Given the description of an element on the screen output the (x, y) to click on. 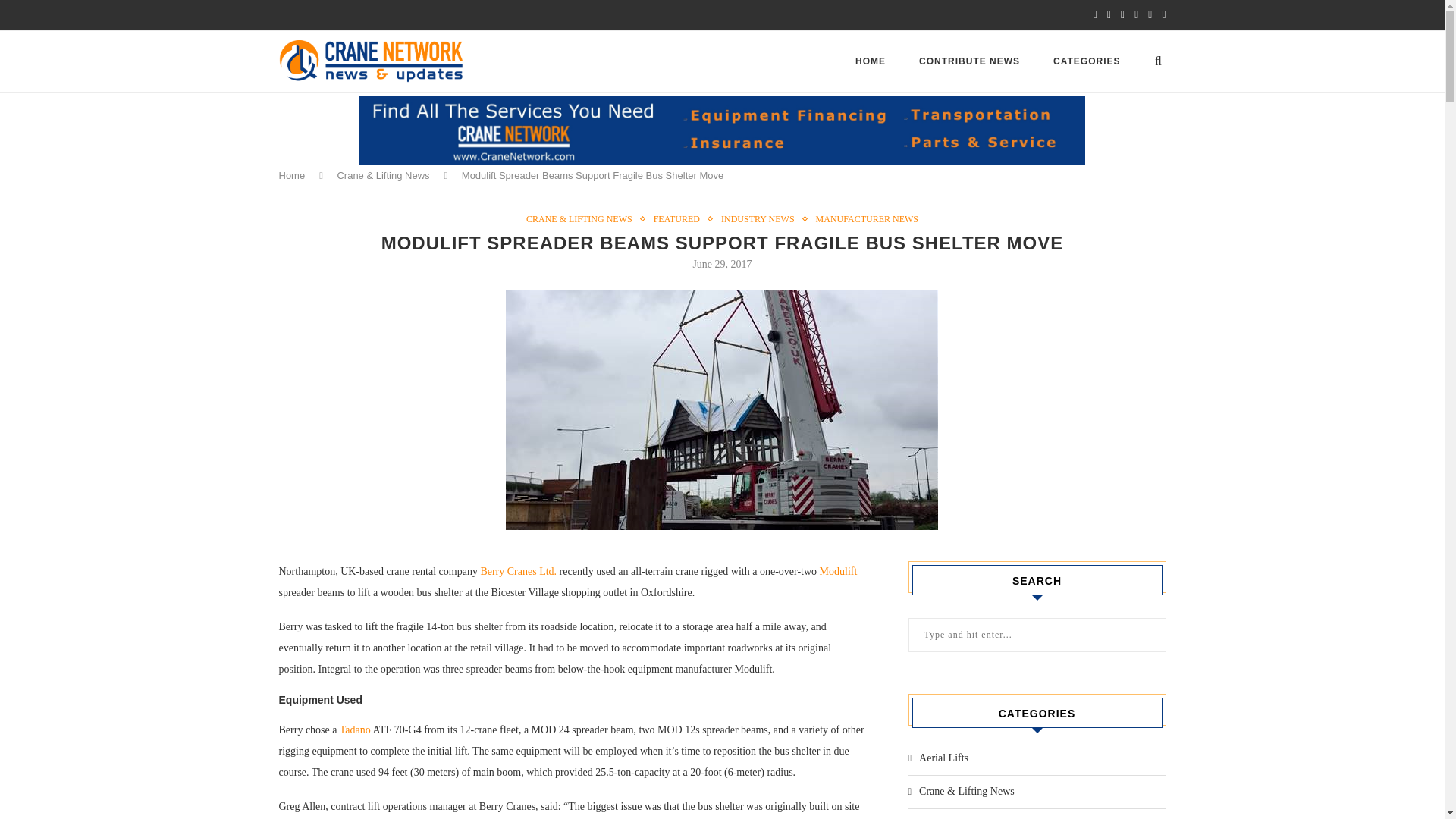
View all posts in Manufacturer News (866, 218)
View all posts in Featured (680, 218)
CONTRIBUTE NEWS (969, 61)
View all posts in Industry News (761, 218)
